Given the description of an element on the screen output the (x, y) to click on. 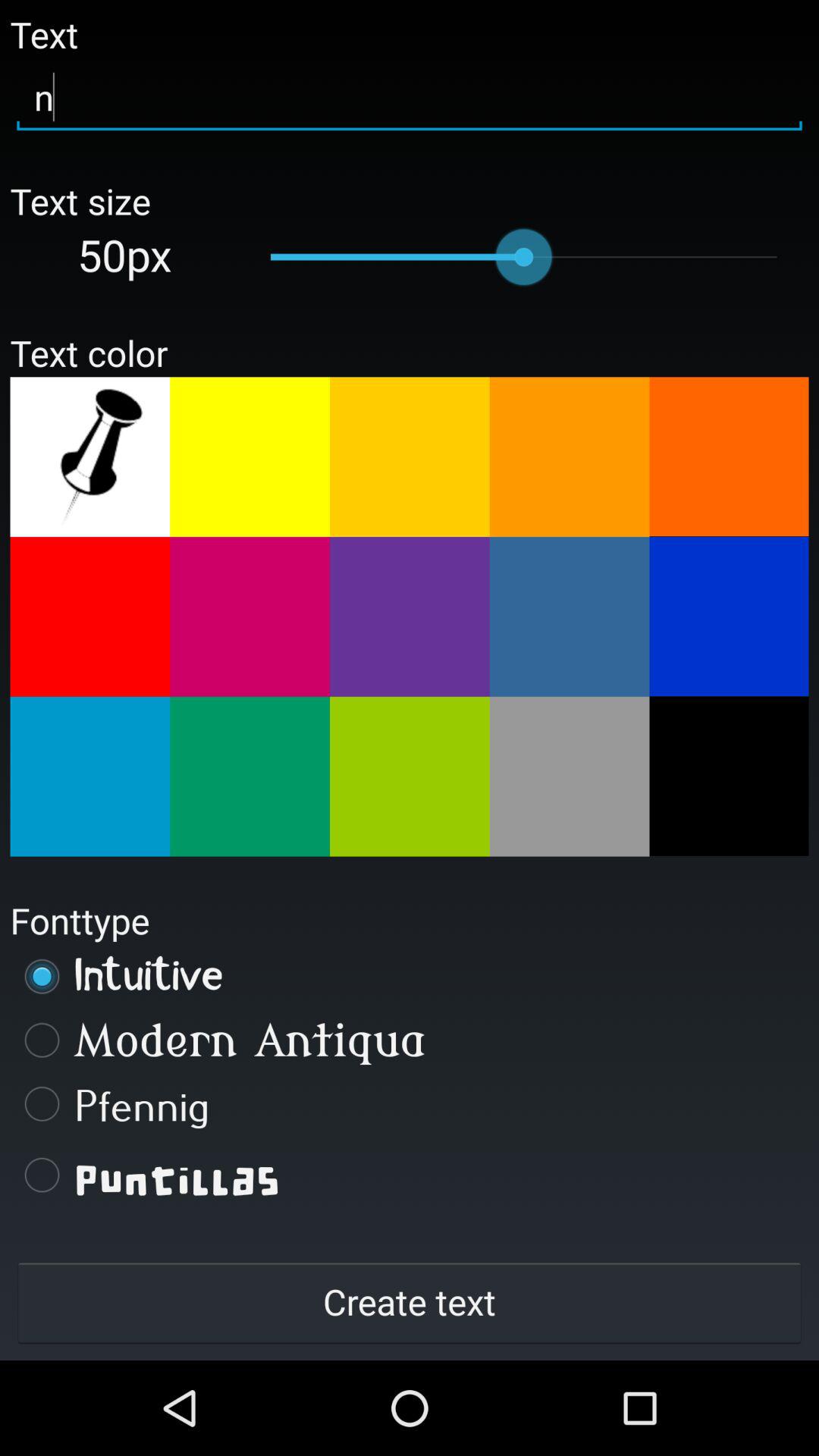
blue color (90, 776)
